Given the description of an element on the screen output the (x, y) to click on. 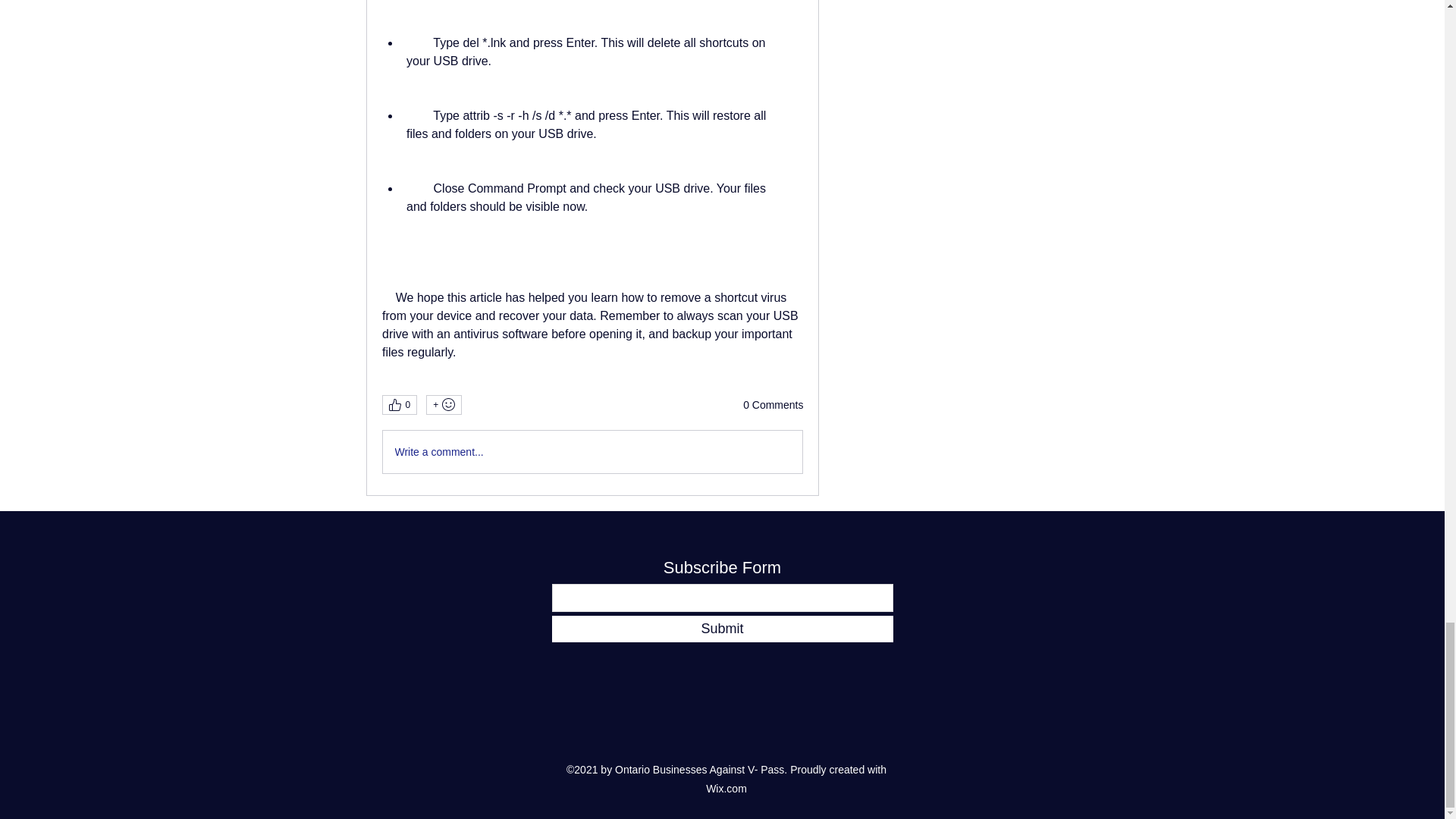
Write a comment... (591, 451)
0 Comments (772, 405)
